Given the description of an element on the screen output the (x, y) to click on. 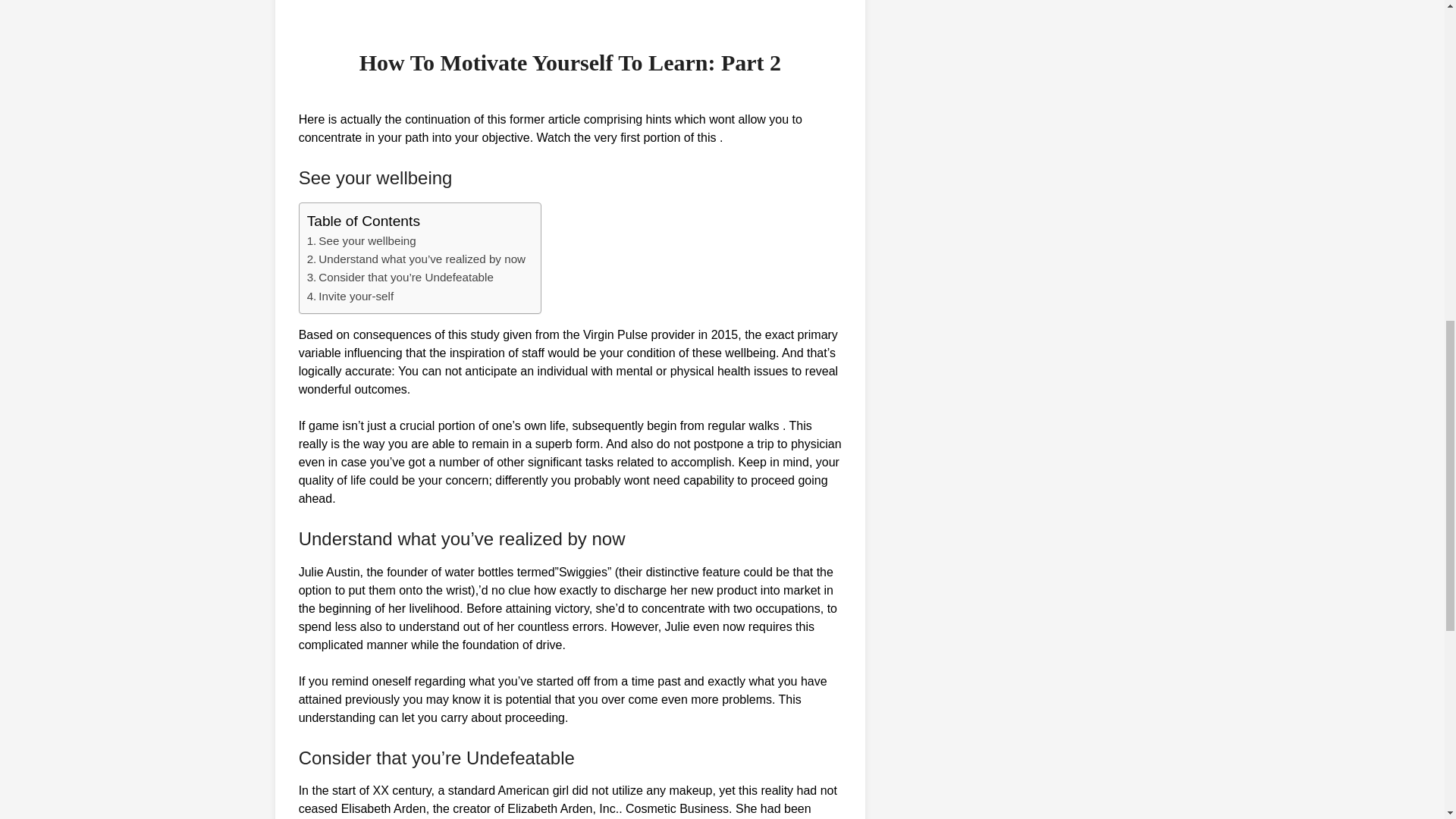
See your wellbeing (366, 240)
Invite your-self (355, 295)
See your wellbeing (366, 240)
Invite your-self (355, 295)
